Given the description of an element on the screen output the (x, y) to click on. 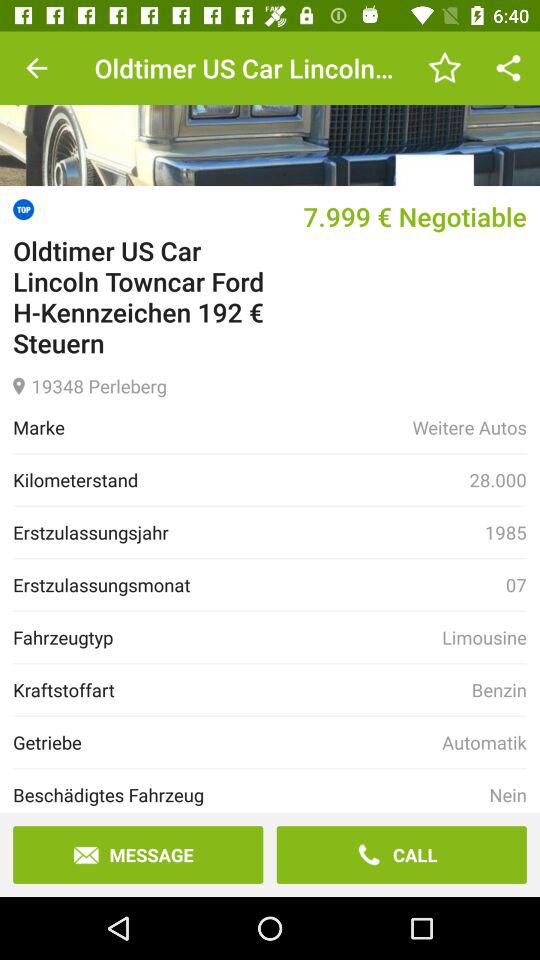
see profile (270, 108)
